Given the description of an element on the screen output the (x, y) to click on. 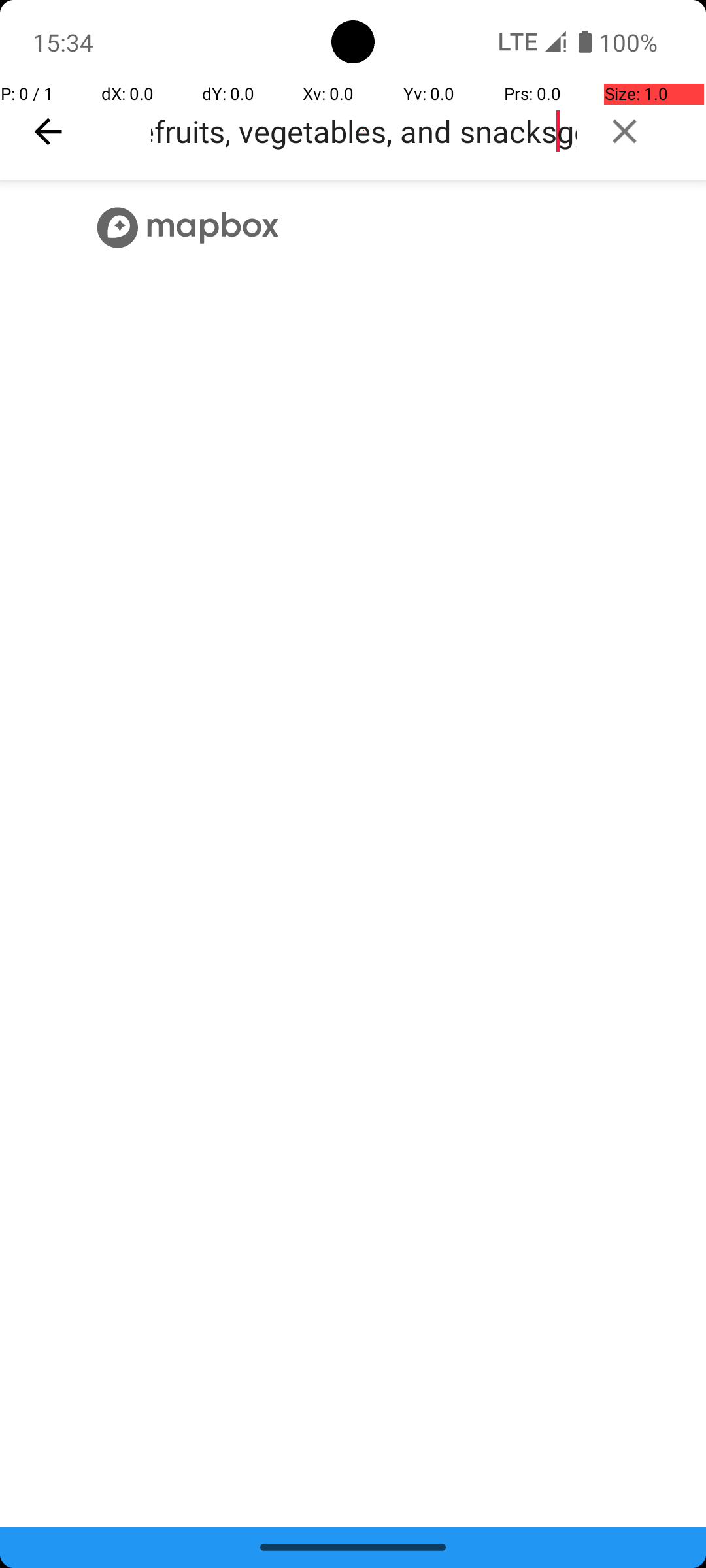
grocery list itemmilk, efruits, vegetables, and snacksggs, and breads Element type: android.widget.AutoCompleteTextView (363, 130)
